Given the description of an element on the screen output the (x, y) to click on. 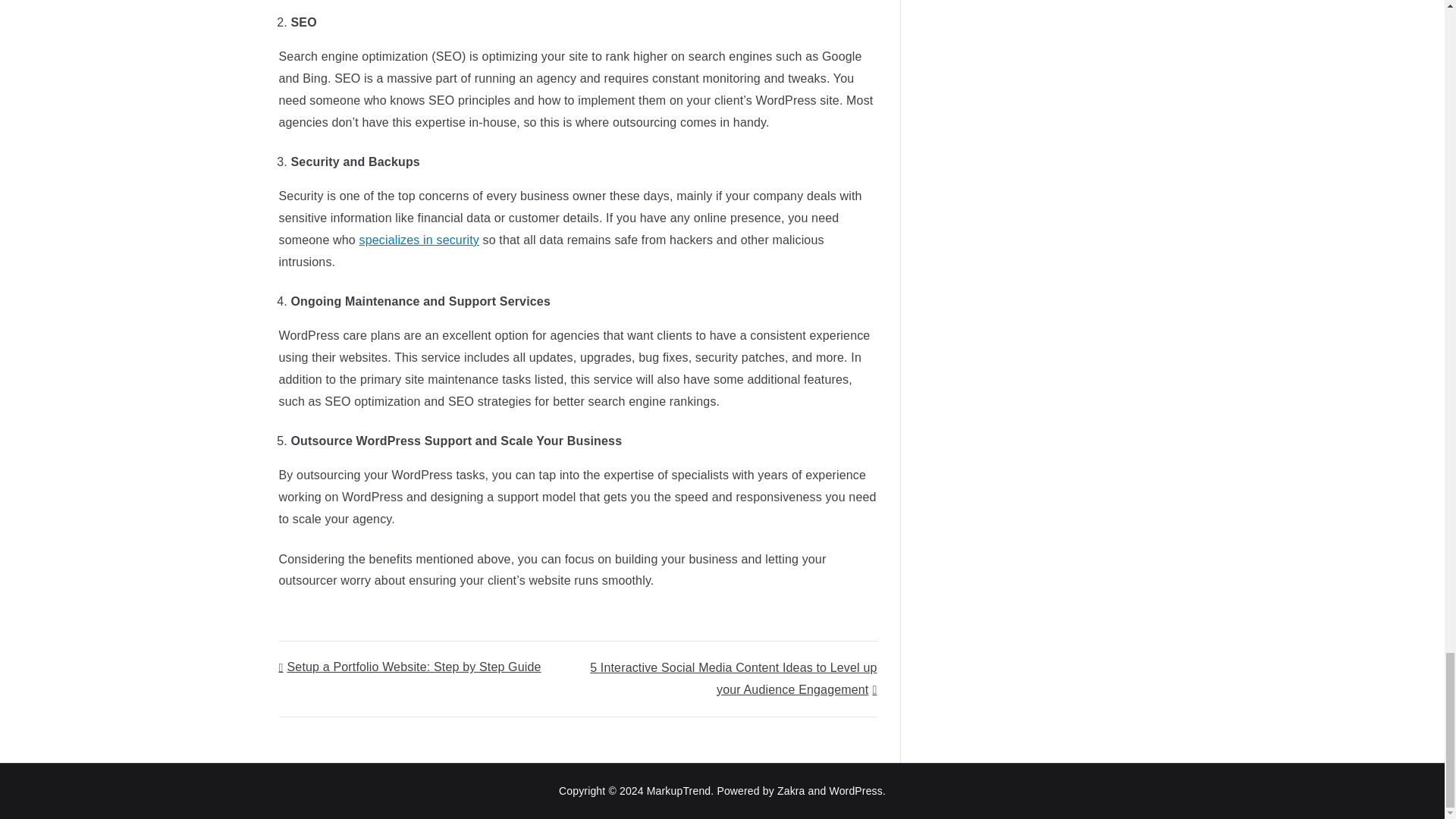
Zakra (791, 790)
MarkupTrend (678, 790)
WordPress (855, 790)
